Given the description of an element on the screen output the (x, y) to click on. 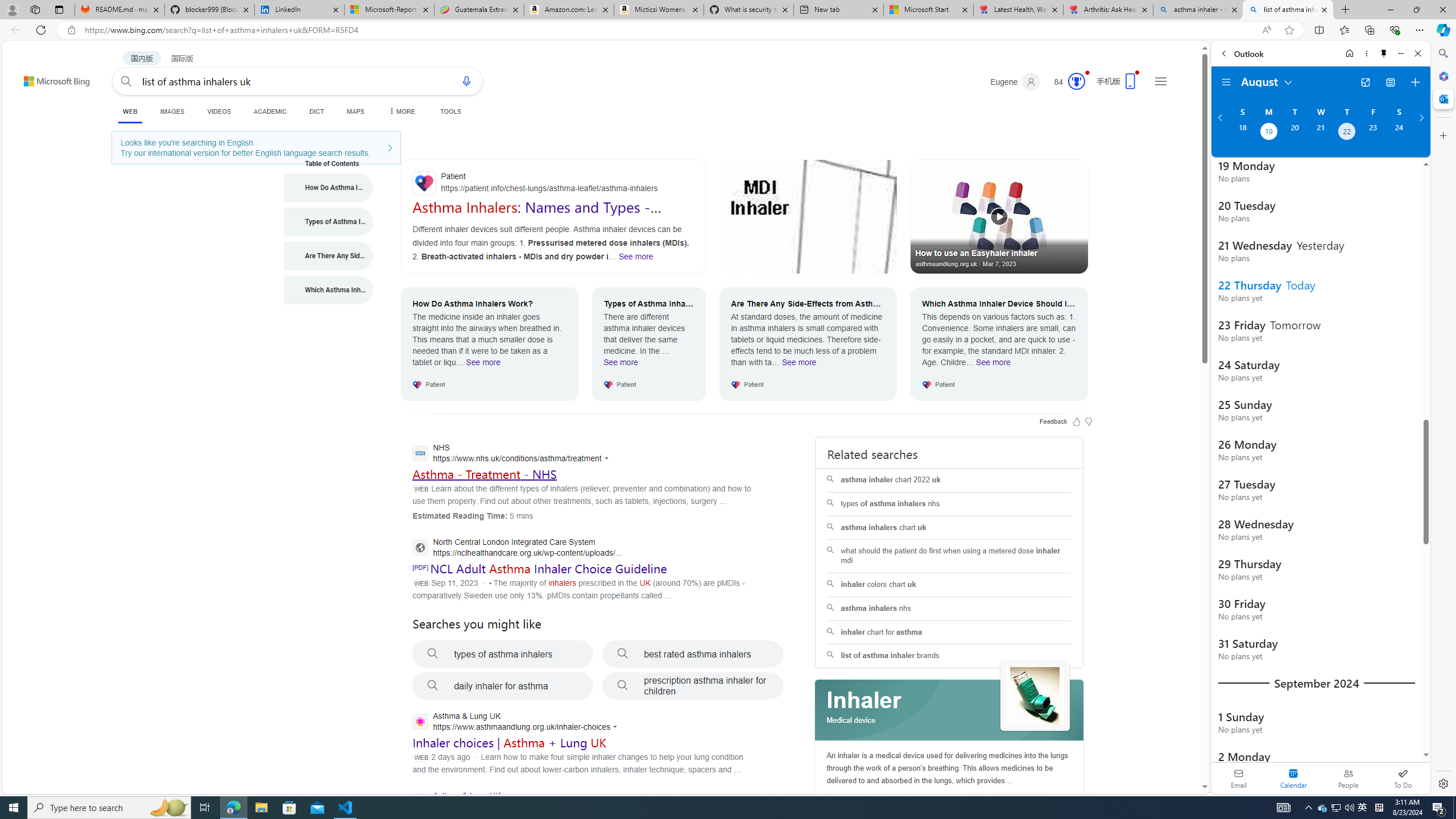
best rated asthma inhalers (692, 653)
asthma inhalers chart uk (949, 527)
Actions for this site (617, 726)
Eugene (1015, 81)
Friday, August 23, 2024.  (1372, 132)
See more images of Inhaler (1035, 696)
Email (1238, 777)
Search more (1179, 753)
daily inhaler for asthma (503, 685)
types of asthma inhalers nhs (949, 503)
